Given the description of an element on the screen output the (x, y) to click on. 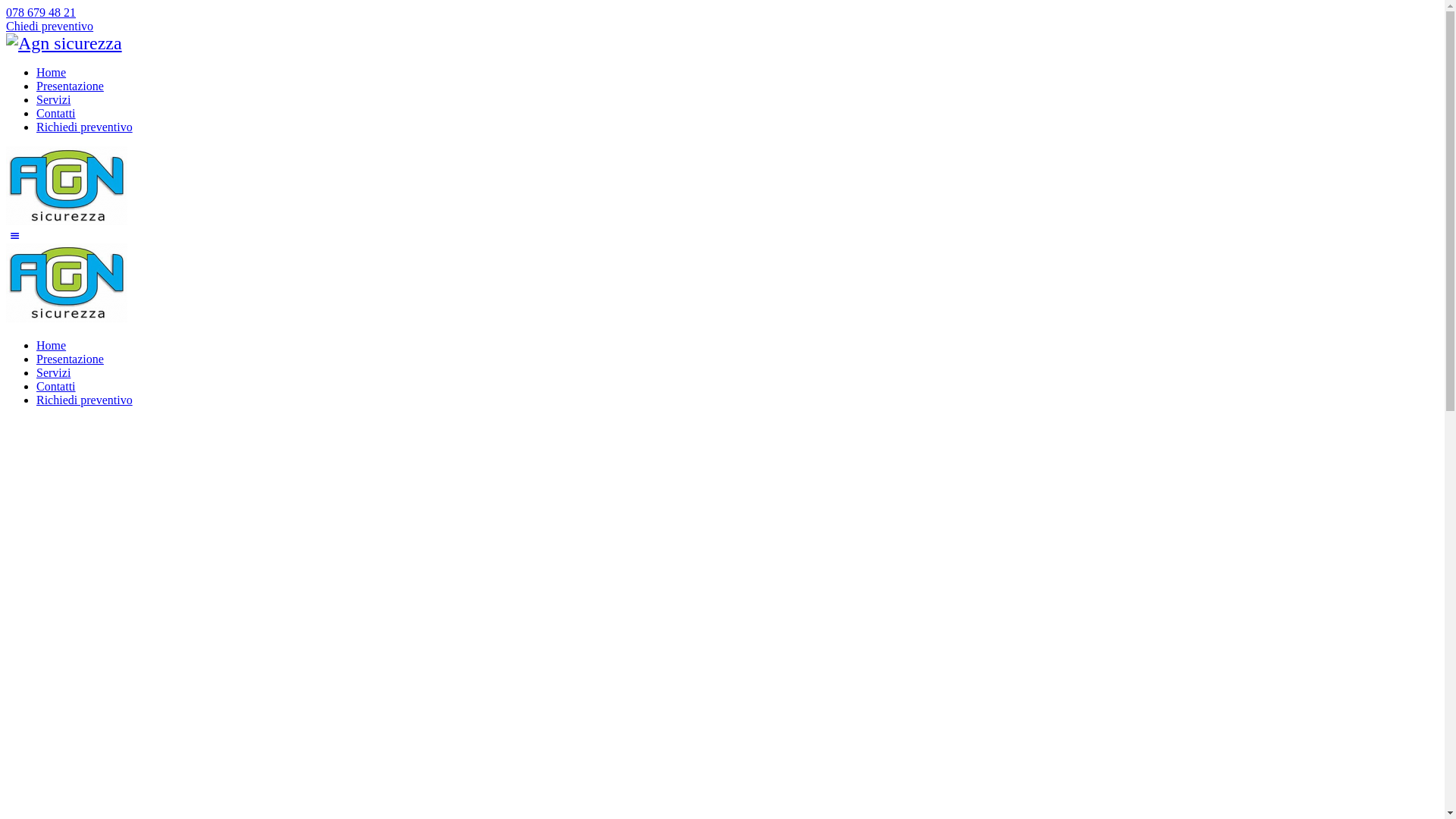
Contatti Element type: text (55, 112)
Richiedi preventivo Element type: text (84, 126)
078 679 48 21 Element type: text (40, 12)
Home Element type: text (50, 71)
Chiedi preventivo Element type: text (49, 25)
Contatti Element type: text (55, 385)
Servizi Element type: text (53, 372)
Servizi Element type: text (53, 99)
Richiedi preventivo Element type: text (84, 399)
Presentazione Element type: text (69, 358)
Presentazione Element type: text (69, 85)
Home Element type: text (50, 344)
